Given the description of an element on the screen output the (x, y) to click on. 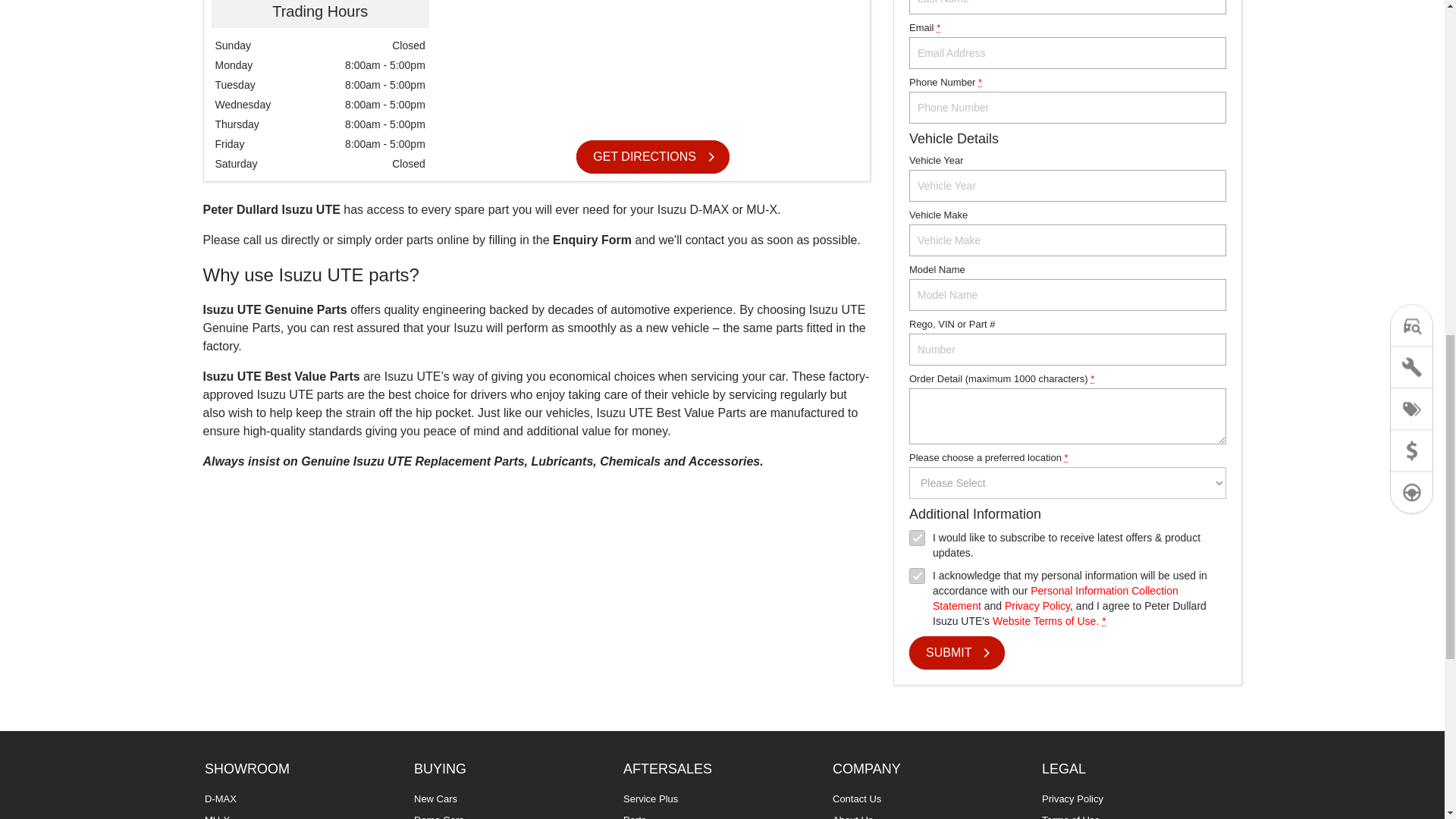
This field is required. (1065, 457)
This field is required. (1092, 378)
on (916, 575)
This field is required. (938, 27)
This field is required. (1103, 621)
on (916, 537)
